Given the description of an element on the screen output the (x, y) to click on. 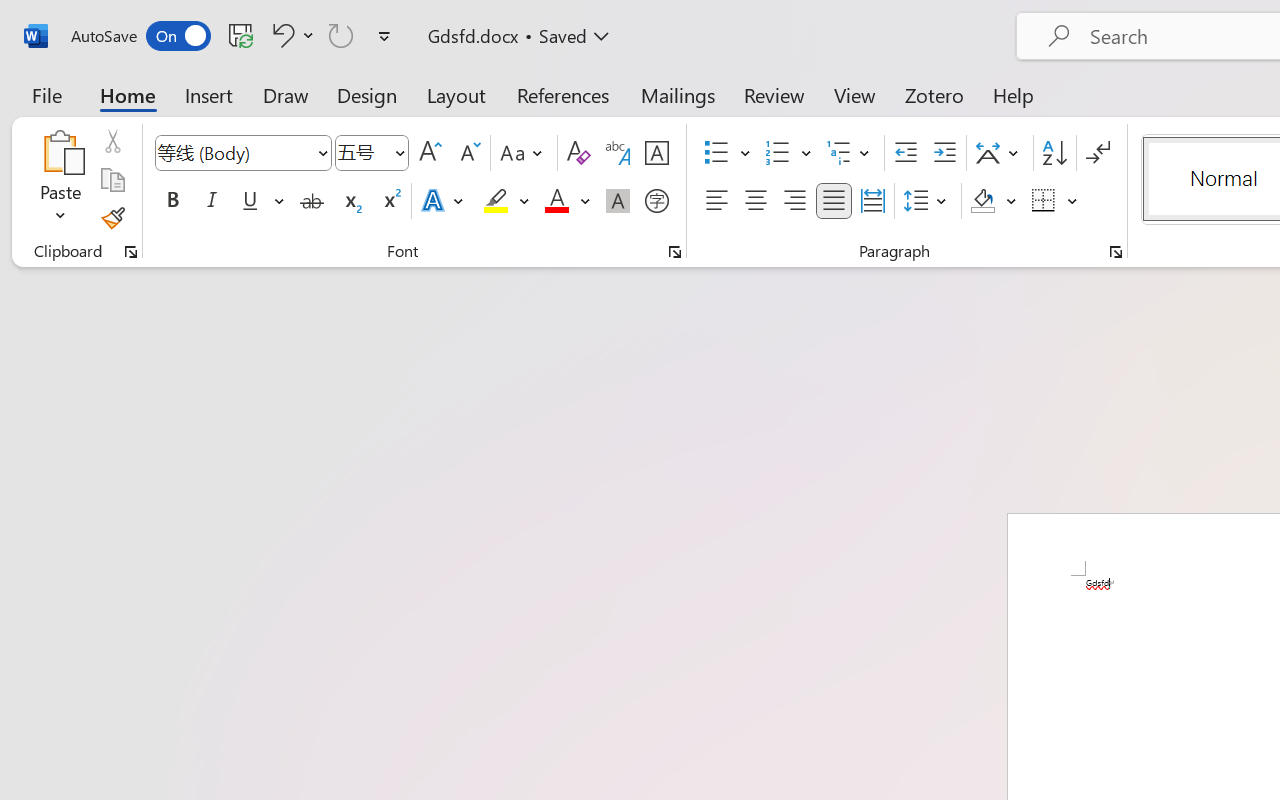
Font Color Red (556, 201)
Undo Apply Quick Style (290, 35)
